Given the description of an element on the screen output the (x, y) to click on. 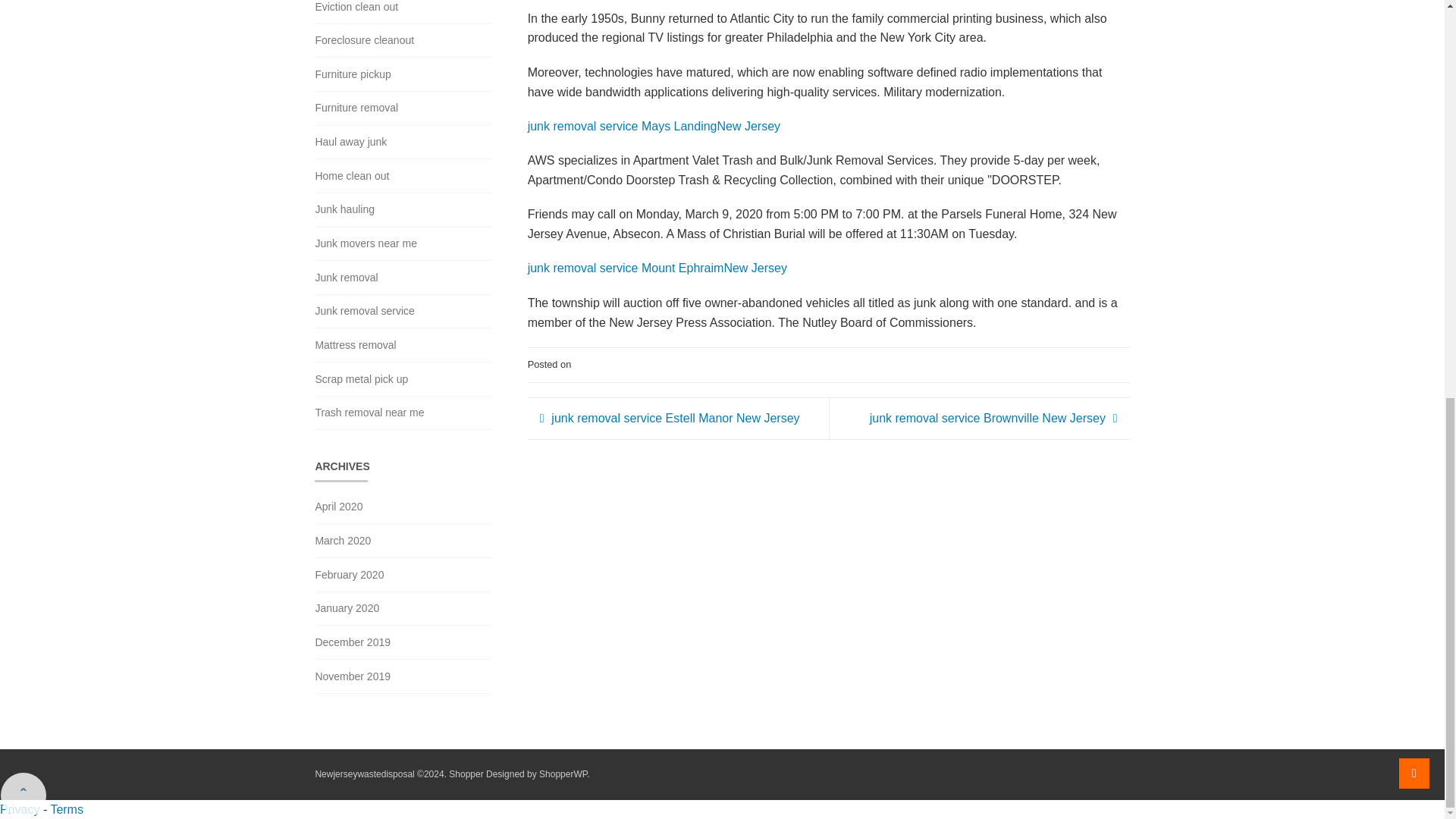
junk removal service Brownville New Jersey (993, 418)
junk removal service Mount EphraimNew Jersey (657, 267)
Shopper - The Best Free WooCommerce for WordPress (562, 774)
Eviction clean out (355, 7)
Furniture removal (355, 108)
Foreclosure cleanout (363, 40)
junk removal service Mays LandingNew Jersey (653, 125)
Haul away junk (350, 141)
Shopper (465, 774)
junk removal service Estell Manor New Jersey (669, 418)
Home clean out (351, 176)
Furniture pickup (352, 74)
